Given the description of an element on the screen output the (x, y) to click on. 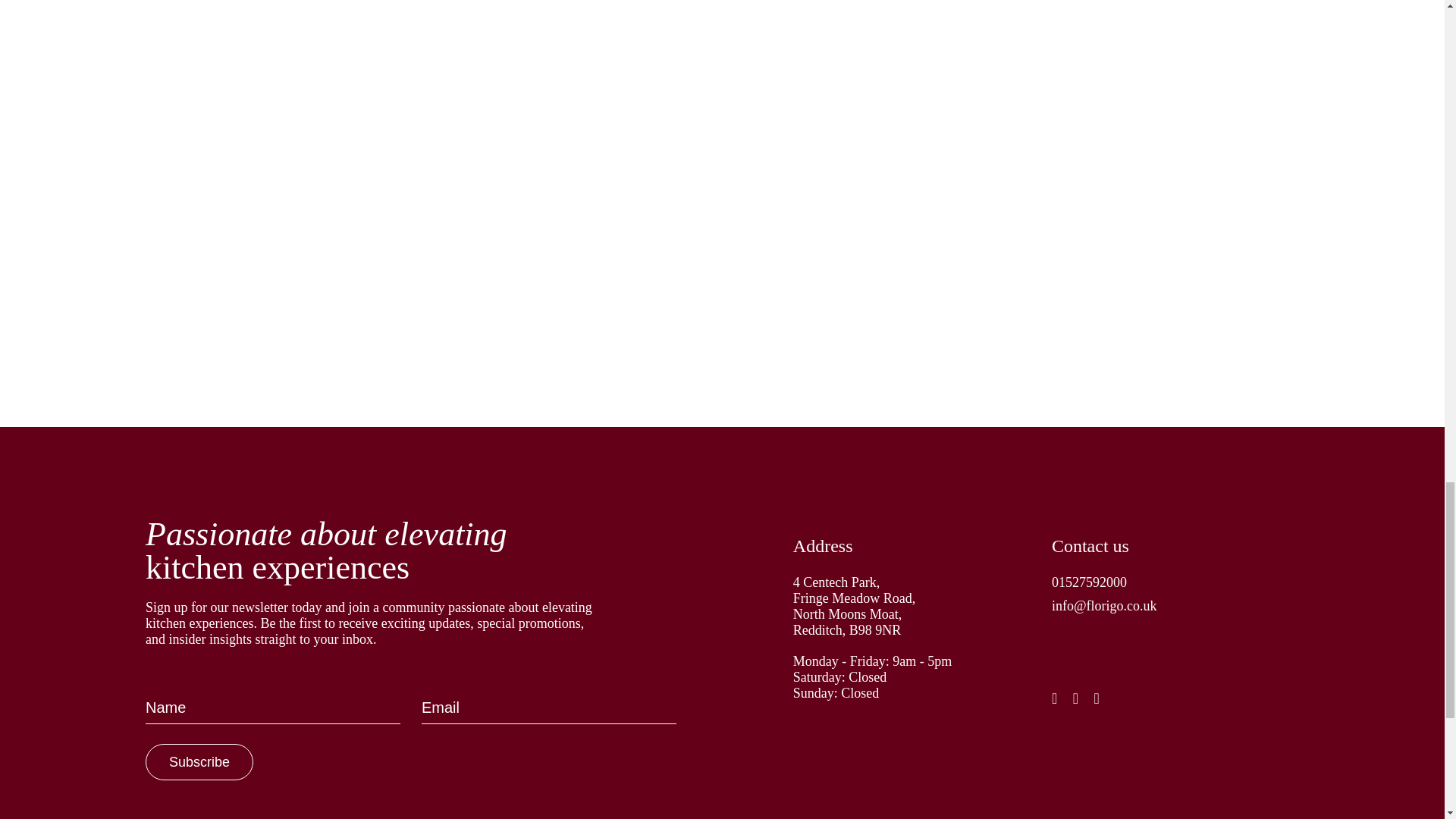
01527592000 (1180, 586)
Subscribe (199, 761)
Subscribe (199, 761)
